Given the description of an element on the screen output the (x, y) to click on. 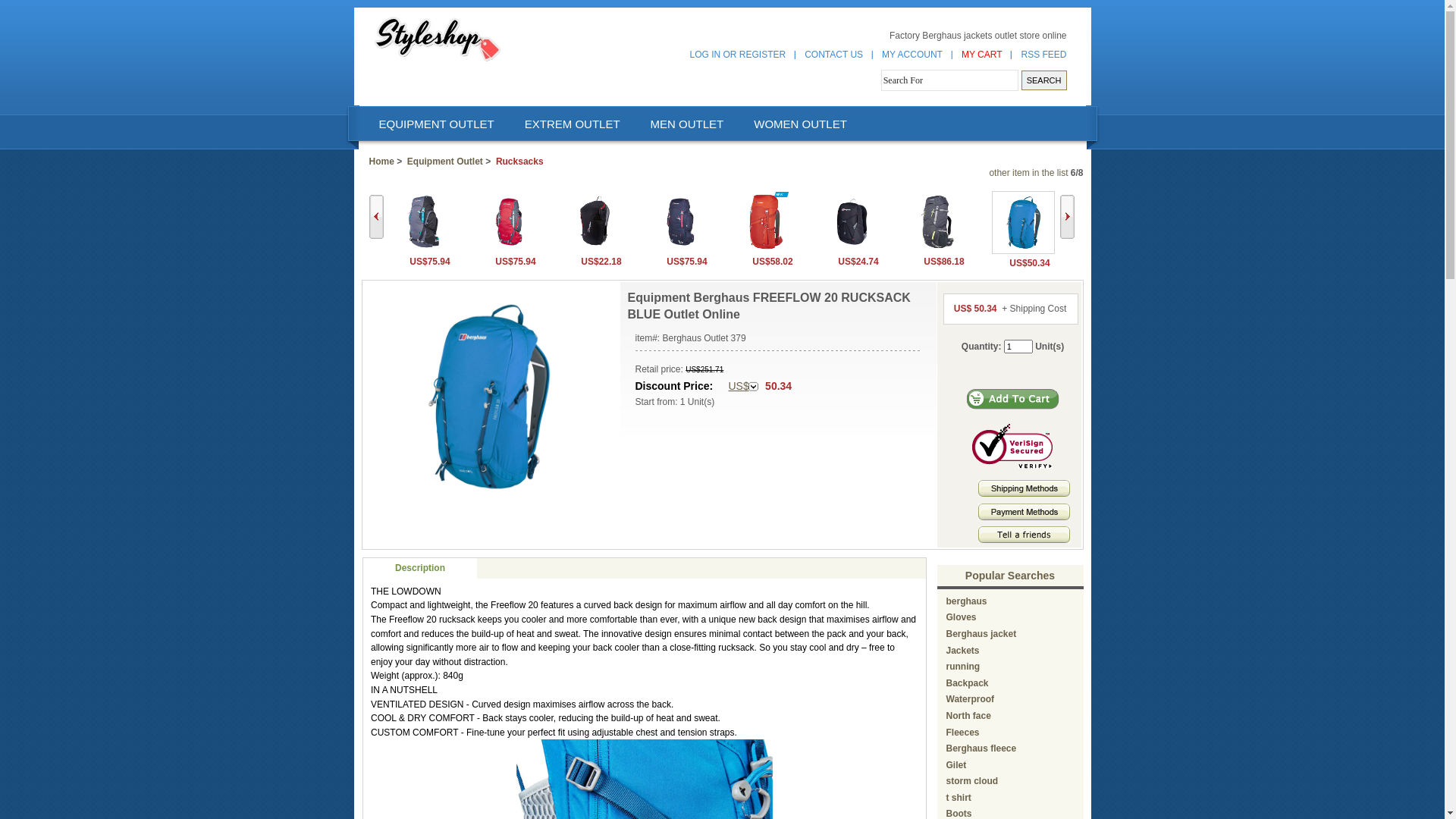
Waterproof Element type: text (970, 698)
SEARCH Element type: text (1043, 80)
MY CART Element type: text (981, 54)
other item in the list Element type: text (1027, 172)
Jackets Element type: text (962, 650)
Gilet Element type: text (956, 764)
Next Element type: hover (1067, 216)
running Element type: text (963, 666)
Berghaus jacket Element type: text (981, 633)
Gloves Element type: text (961, 616)
Back Element type: hover (375, 216)
EQUIPMENT OUTLET Element type: text (435, 123)
Fleeces Element type: text (962, 731)
Equipment Berghaus REMOTE 35 RUCKSACK RED Outlet Online Element type: hover (766, 221)
North face Element type: text (968, 715)
Equipment Berghaus FREEFLOW 20 RUCKSACK BLUE Outlet Online Element type: hover (1022, 222)
berghaus Element type: text (966, 601)
Home Element type: text (380, 161)
 Equipment Berghaus FREEFLOW 20 RUCKSACK BLUE Outlet Online  Element type: hover (489, 396)
storm cloud Element type: text (972, 780)
RSS FEED Element type: text (1043, 54)
Rucksacks Element type: text (519, 161)
Add to Cart Element type: hover (1012, 399)
Equipment Berghaus FREEFLOW 20 RUCKSACK BLUE Outlet Online Element type: hover (1022, 250)
MY ACCOUNT Element type: text (911, 54)
t shirt Element type: text (958, 797)
Payment methods Element type: hover (1024, 516)
Backpack Element type: text (967, 682)
EXTREM OUTLET Element type: text (571, 123)
 Tell A Friends  Element type: hover (1024, 534)
US$ Element type: text (742, 386)
Equipment Outlet Element type: text (445, 161)
CONTACT US Element type: text (833, 54)
Shipping Methods Element type: hover (1024, 493)
LOG IN OR REGISTER Element type: text (738, 54)
Berghaus fleece Element type: text (981, 748)
MEN OUTLET Element type: text (686, 123)
 Berghaus outlet  Element type: hover (437, 39)
 Shipping Methods  Element type: hover (1024, 488)
Popular Searches Element type: text (1009, 575)
 Payment Methods  Element type: hover (1024, 511)
WOMEN OUTLET Element type: text (799, 123)
Equipment Berghaus REMOTE 35 RUCKSACK RED Outlet Online Element type: hover (766, 249)
